Given the description of an element on the screen output the (x, y) to click on. 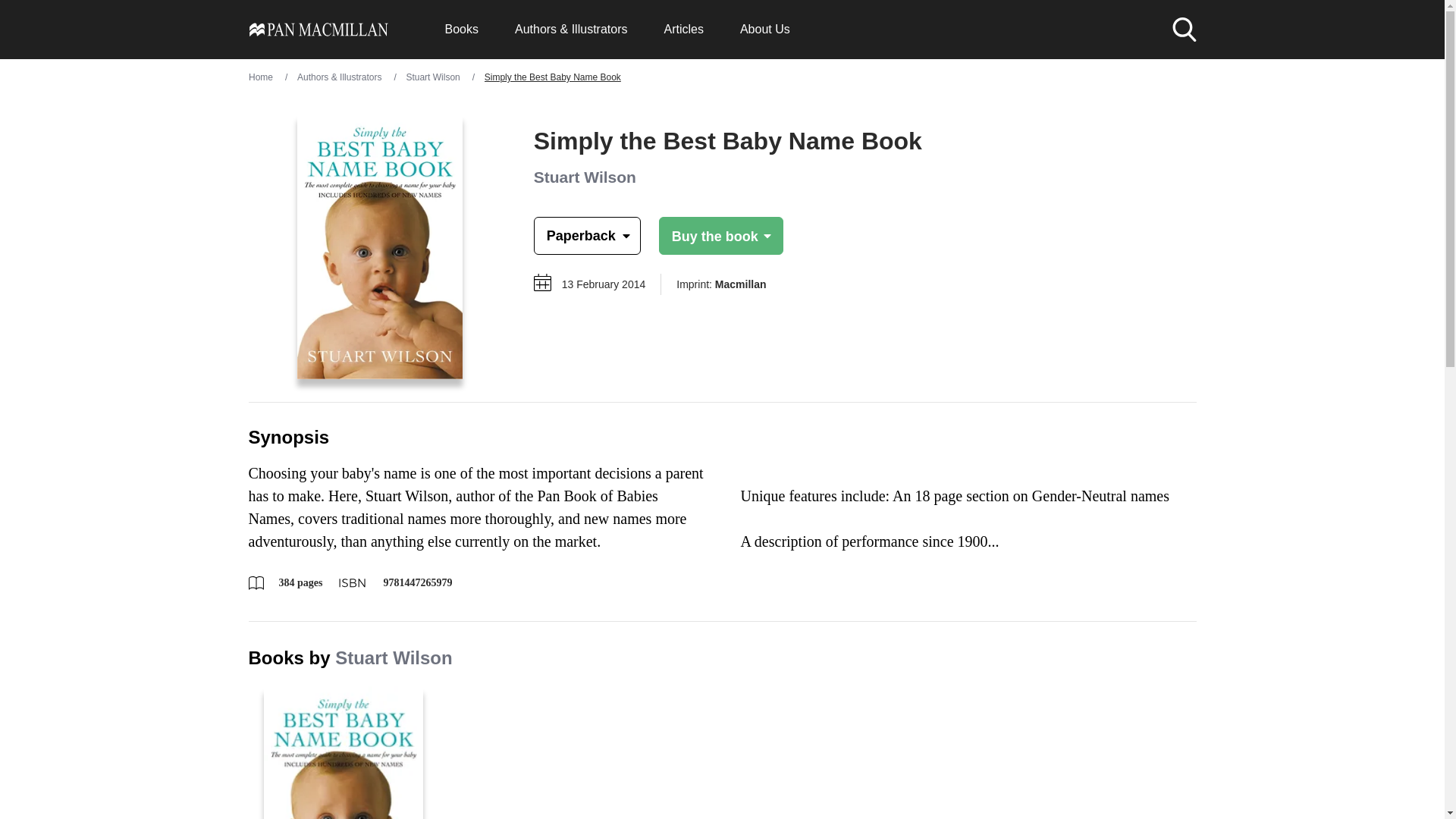
Books (460, 29)
